Given the description of an element on the screen output the (x, y) to click on. 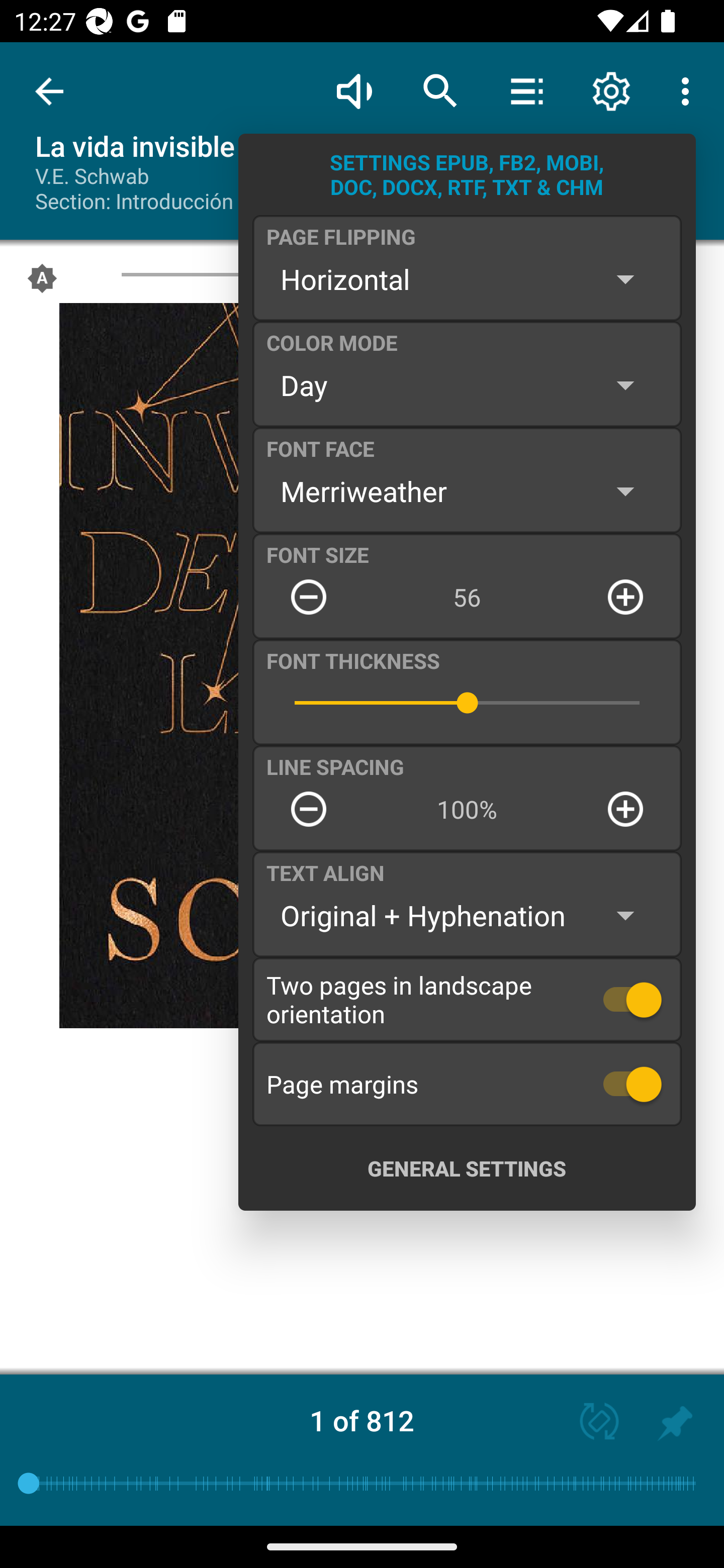
Horizontal (466, 278)
Day (466, 384)
Merriweather (466, 490)
Original + Hyphenation (466, 915)
Two pages in landscape orientation (467, 999)
Page margins (467, 1083)
GENERAL SETTINGS (466, 1167)
